Given the description of an element on the screen output the (x, y) to click on. 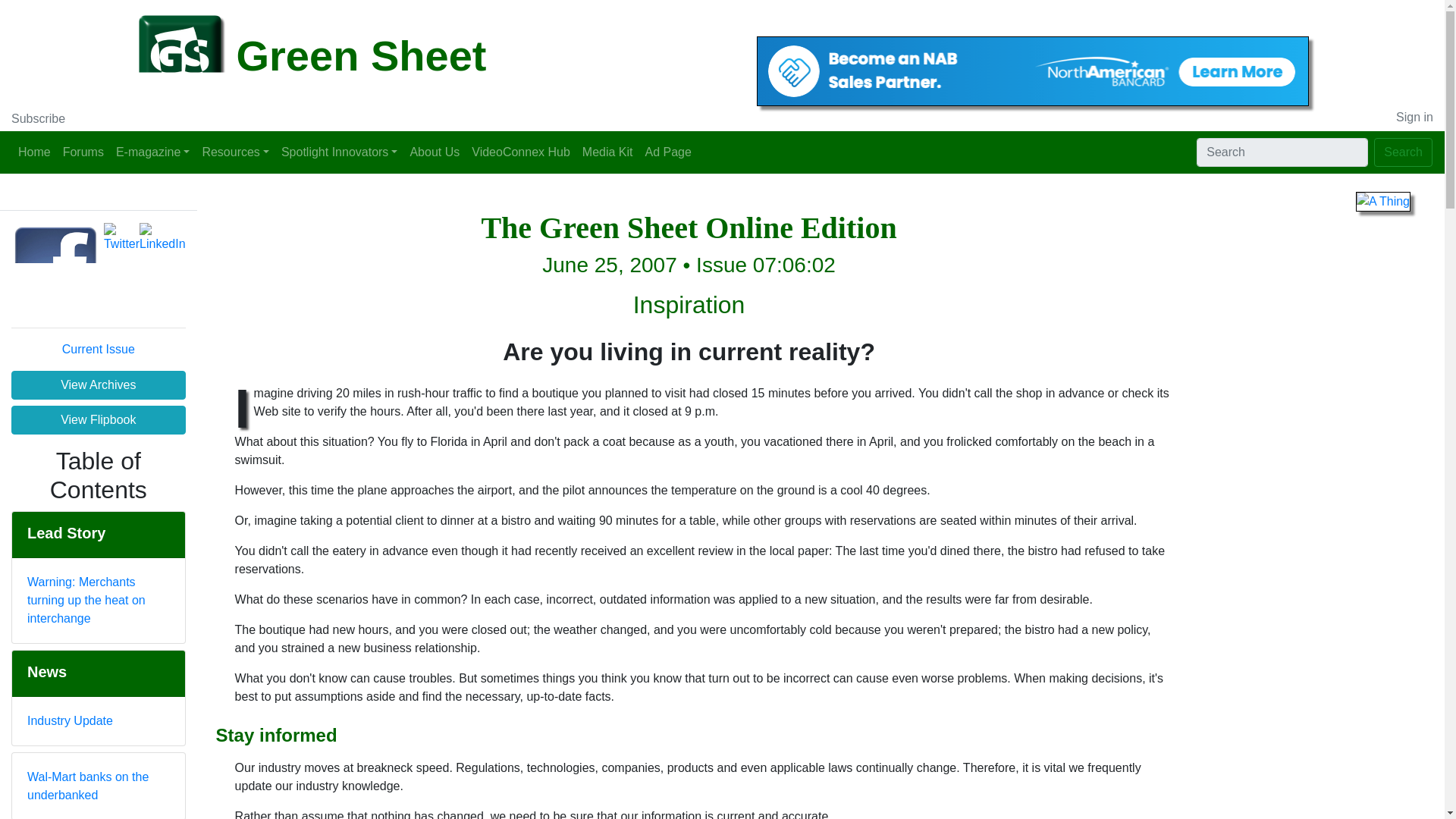
Sign in (1414, 117)
Resources (235, 152)
Search (1403, 152)
View Flipbook (98, 419)
Subscribe (38, 118)
E-magazine (152, 152)
Media Kit (607, 152)
Ad Page (668, 152)
About Us (434, 152)
Forums (83, 152)
